Given the description of an element on the screen output the (x, y) to click on. 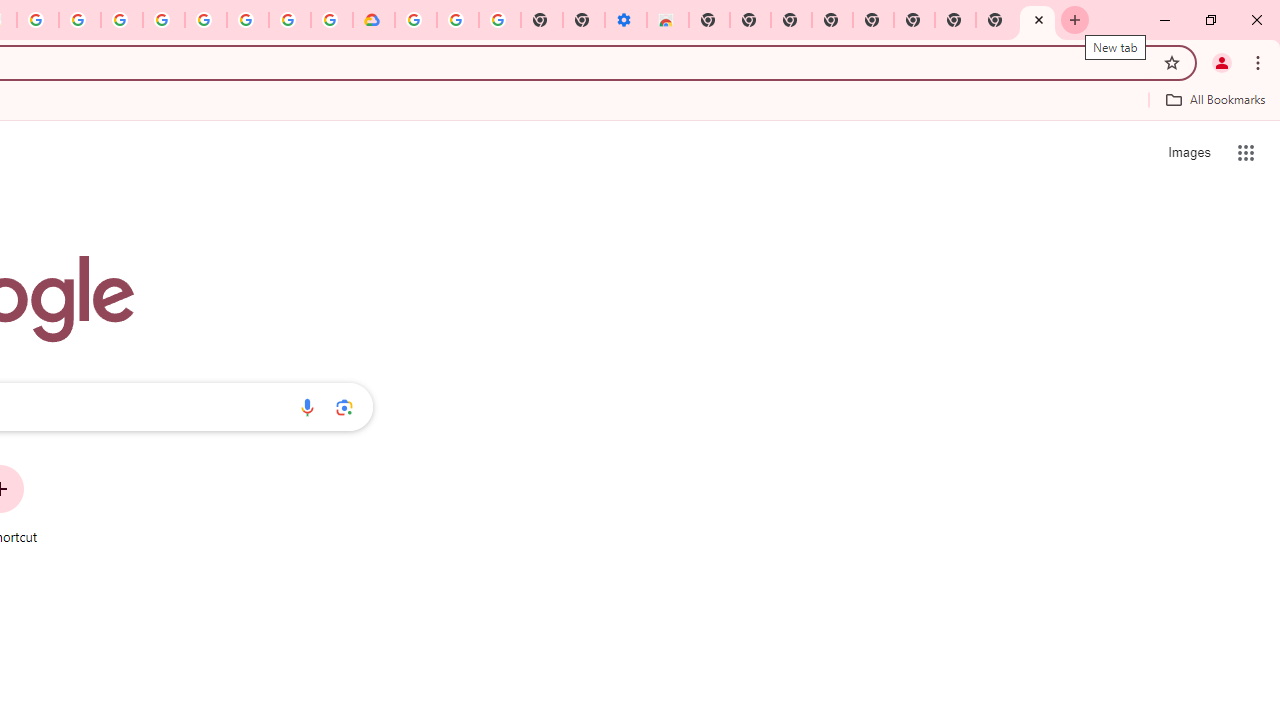
Search by image (344, 407)
Browse the Google Chrome Community - Google Chrome Community (332, 20)
Create your Google Account (289, 20)
Sign in - Google Accounts (164, 20)
Sign in - Google Accounts (415, 20)
Google apps (1245, 152)
New Tab (955, 20)
Search for Images  (1188, 152)
Search by voice (307, 407)
New Tab (708, 20)
